Given the description of an element on the screen output the (x, y) to click on. 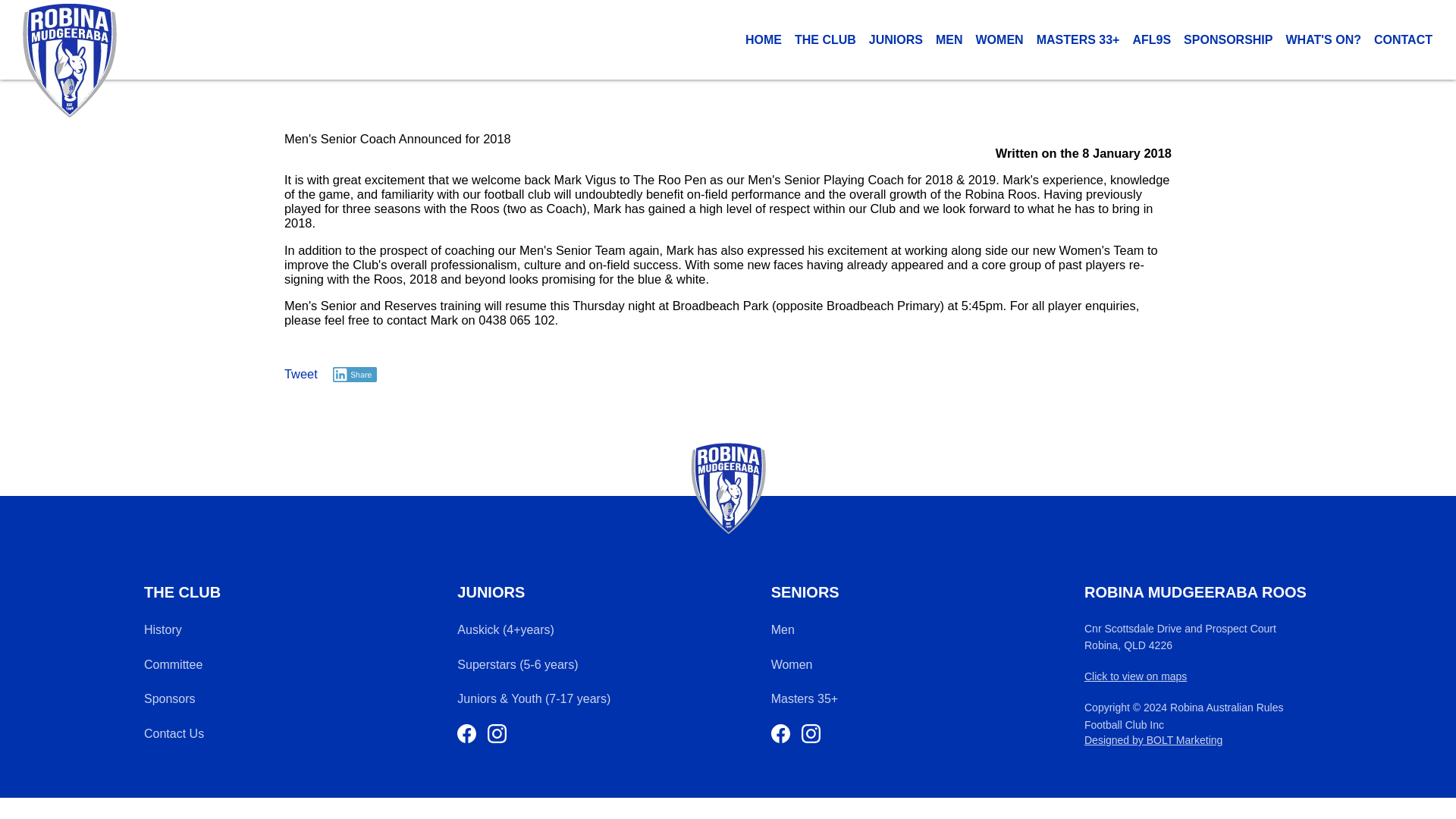
Share it on Twitter (300, 373)
Instagram (496, 732)
WOMEN (1000, 39)
Sponsors (169, 699)
Men (782, 629)
CONTACT (1402, 39)
Committee (173, 664)
Tweet (300, 373)
JUNIORS (895, 39)
Share (355, 374)
Facebook (780, 732)
HOME (763, 39)
History (163, 629)
Click to view on maps (1135, 676)
THE CLUB (825, 39)
